Given the description of an element on the screen output the (x, y) to click on. 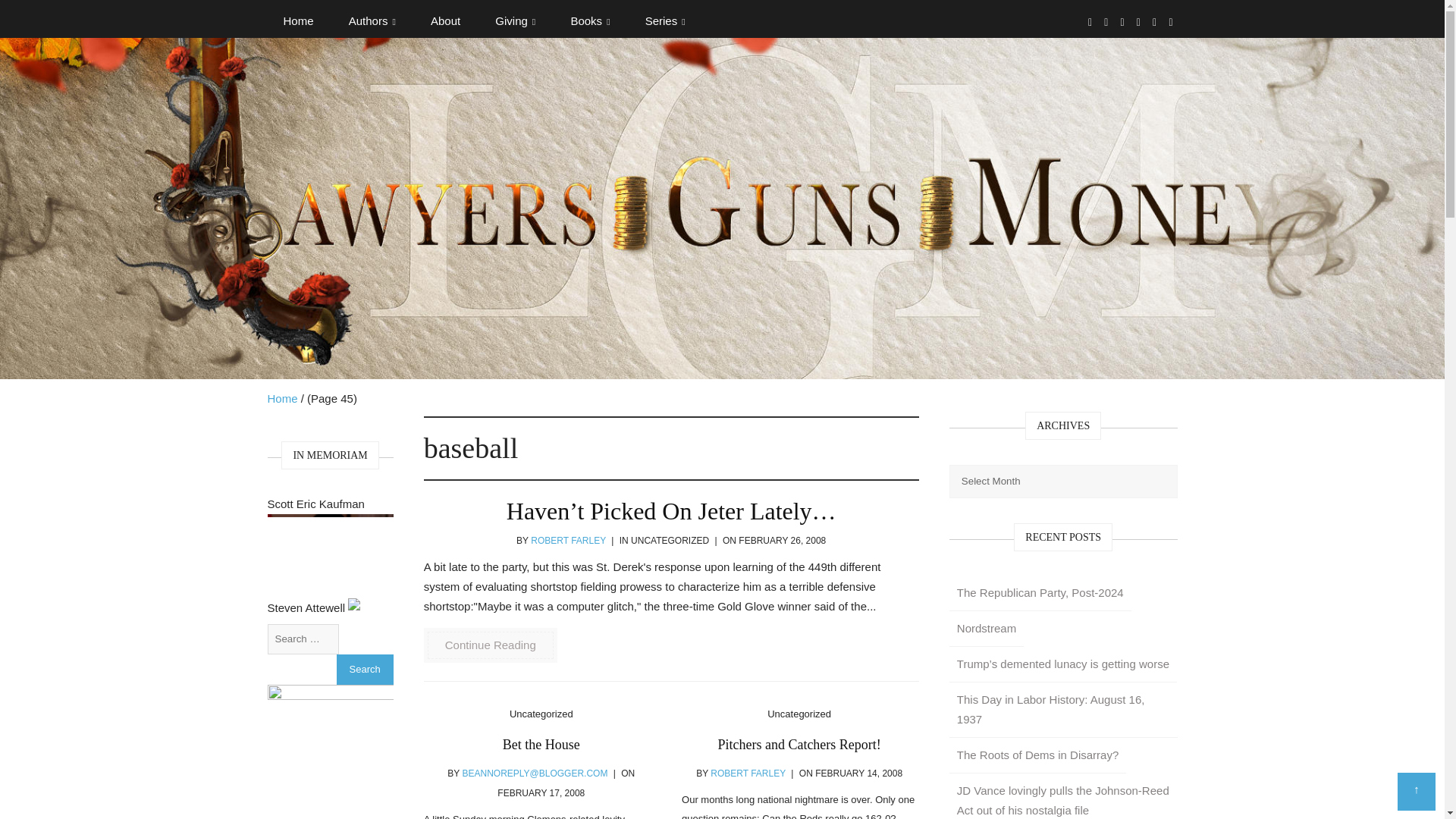
Posts by Robert Farley (748, 773)
Home (297, 21)
Authors (372, 21)
About (445, 21)
Search (364, 669)
Posts by Robert Farley (568, 540)
Books (590, 21)
Search (364, 669)
Giving (515, 21)
